Given the description of an element on the screen output the (x, y) to click on. 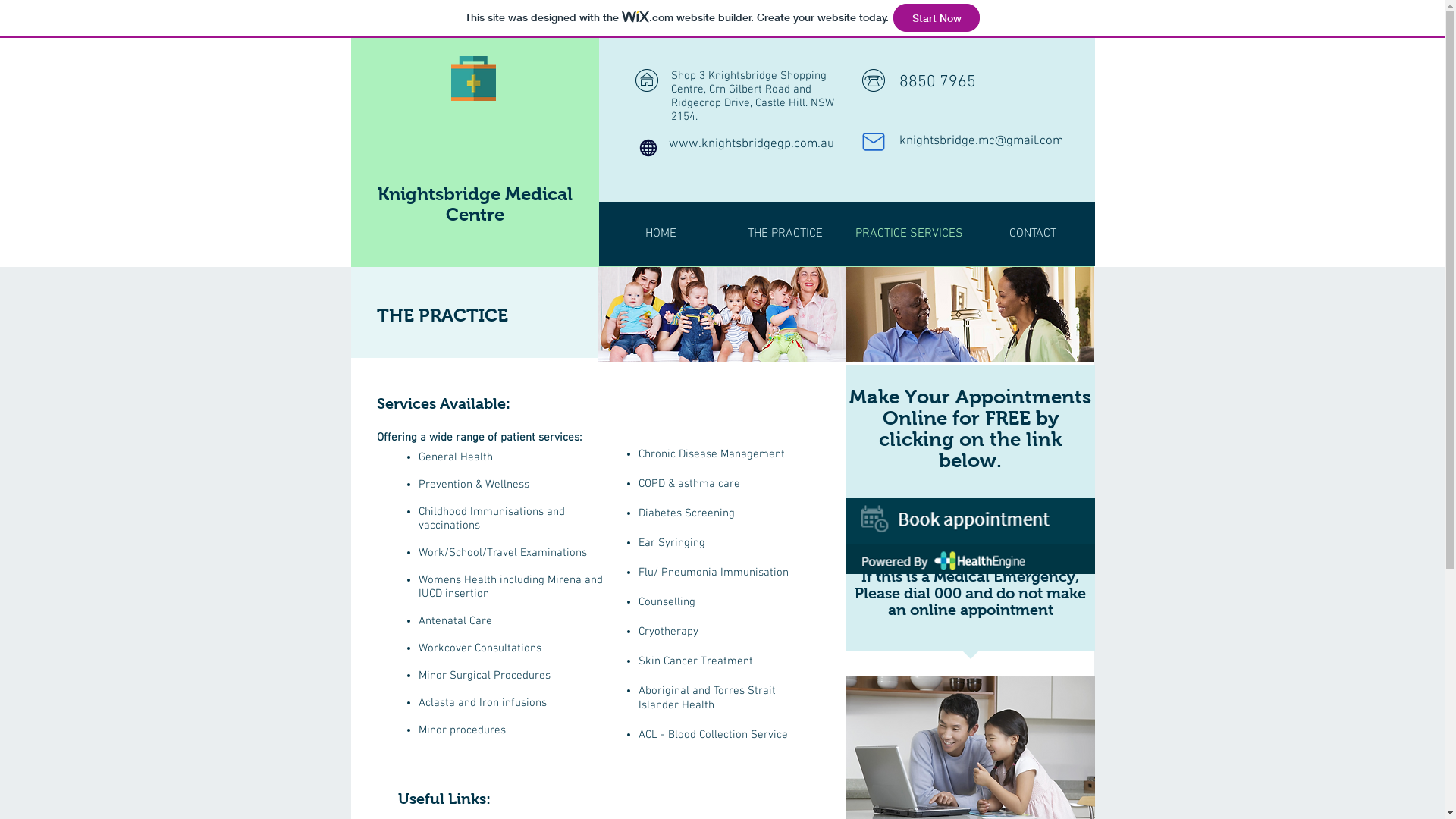
PRACTICE SERVICES Element type: text (909, 233)
www.knightsbridgegp.com.au Element type: text (751, 143)
knightsbridge.mc@gmail.com Element type: text (981, 140)
CONTACT Element type: text (1032, 233)
THE PRACTICE Element type: text (785, 233)
HOME Element type: text (661, 233)
